Given the description of an element on the screen output the (x, y) to click on. 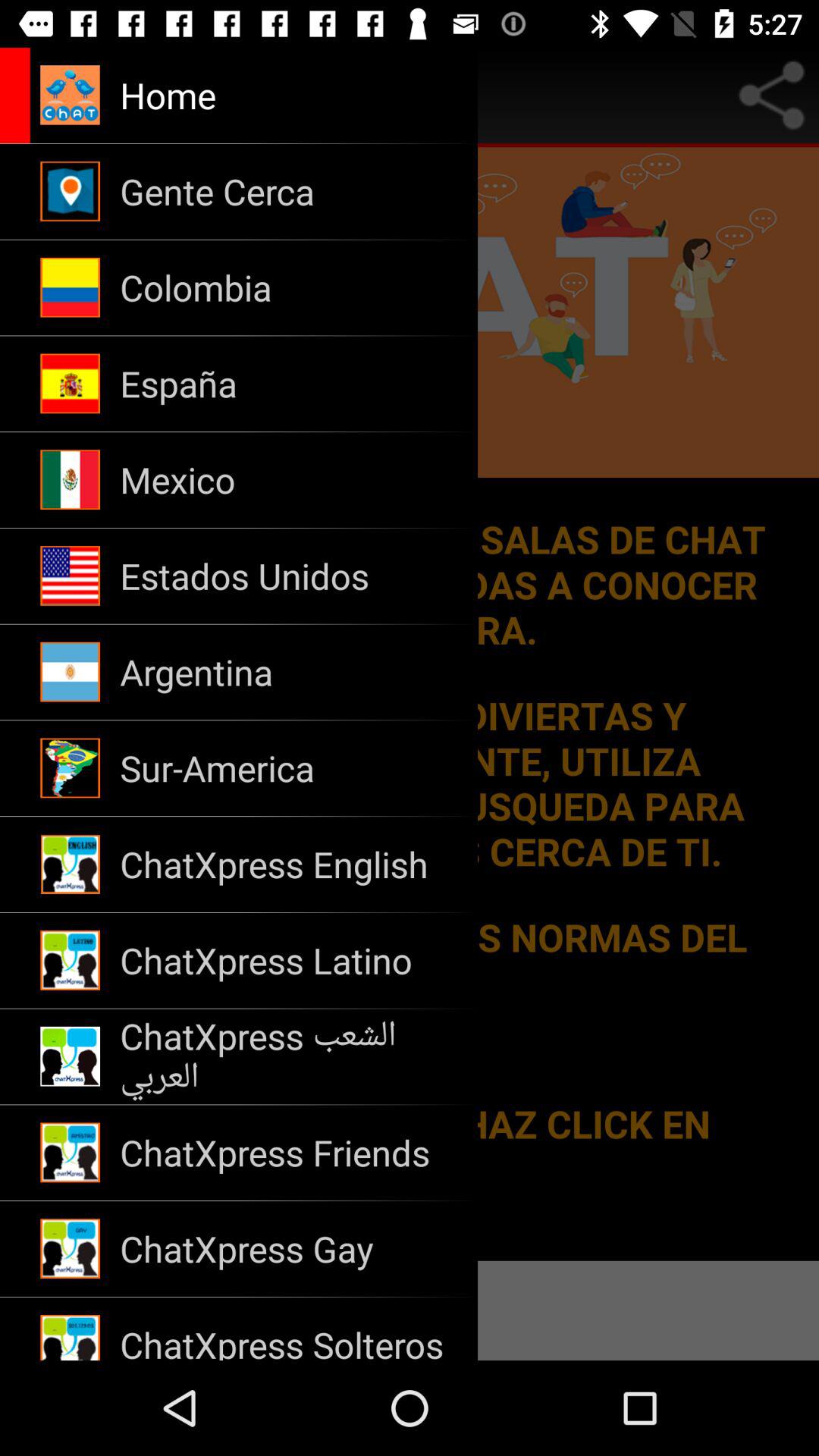
navigate to home page (178, 95)
